Given the description of an element on the screen output the (x, y) to click on. 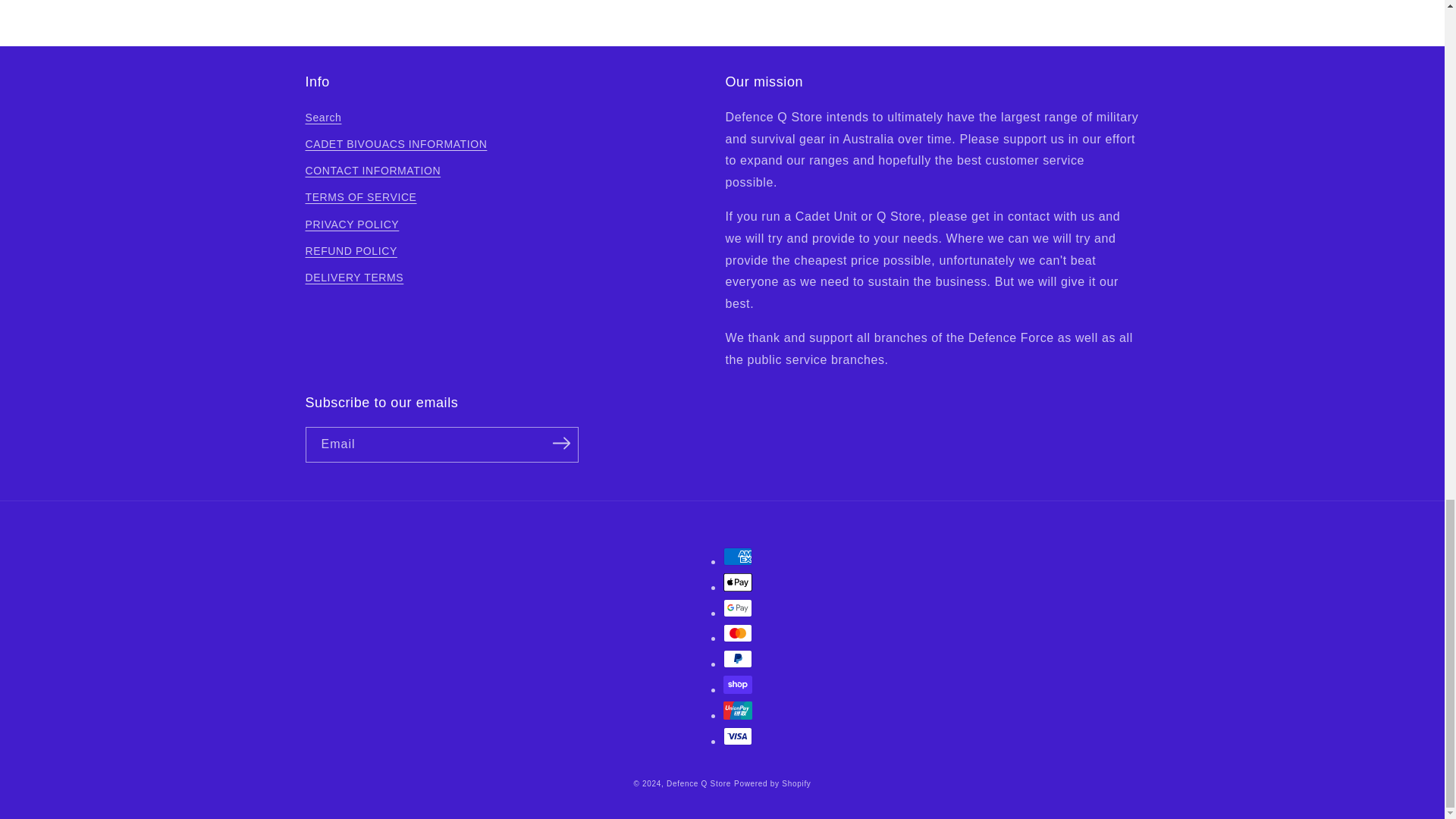
PayPal (737, 659)
Mastercard (737, 633)
Apple Pay (737, 582)
Google Pay (737, 607)
Shop Pay (737, 684)
American Express (737, 556)
